Given the description of an element on the screen output the (x, y) to click on. 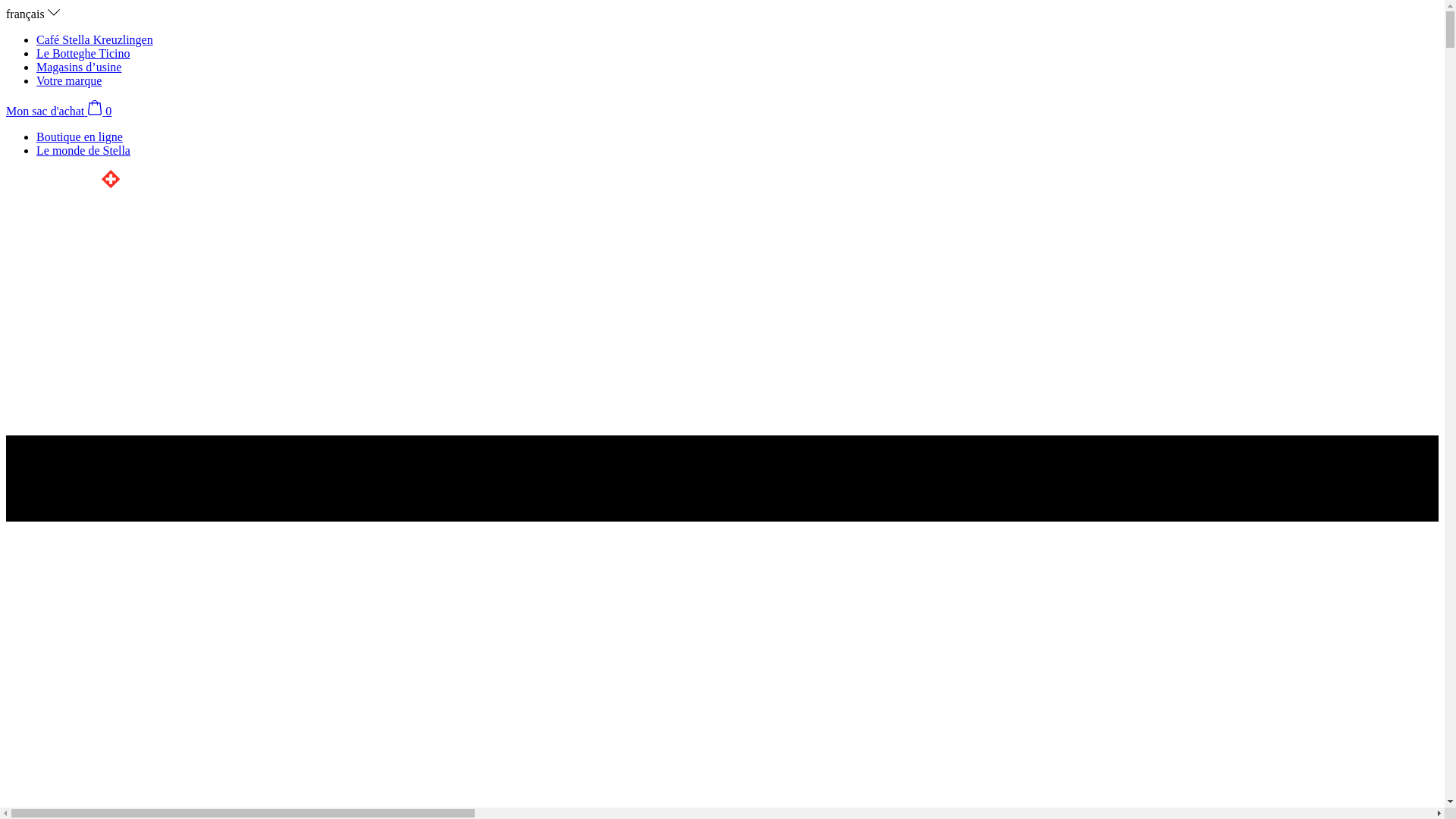
Le Botteghe Ticino Element type: text (83, 53)
Votre marque Element type: text (68, 80)
Le monde de Stella Element type: text (83, 150)
Mon sac d'achat 0 Element type: text (58, 110)
Boutique en ligne Element type: text (79, 136)
